Given the description of an element on the screen output the (x, y) to click on. 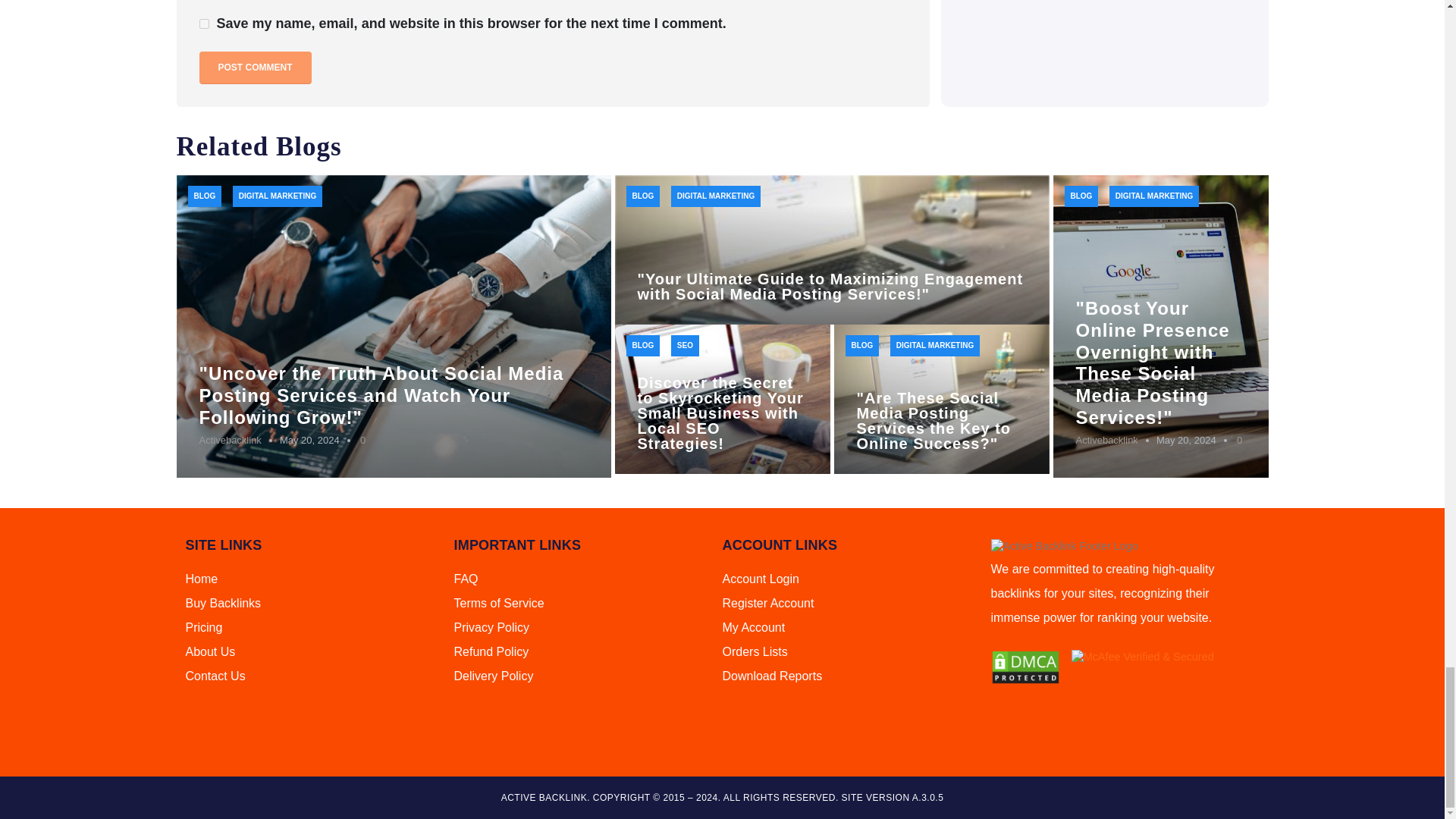
yes (203, 23)
Post Comment (254, 67)
